Given the description of an element on the screen output the (x, y) to click on. 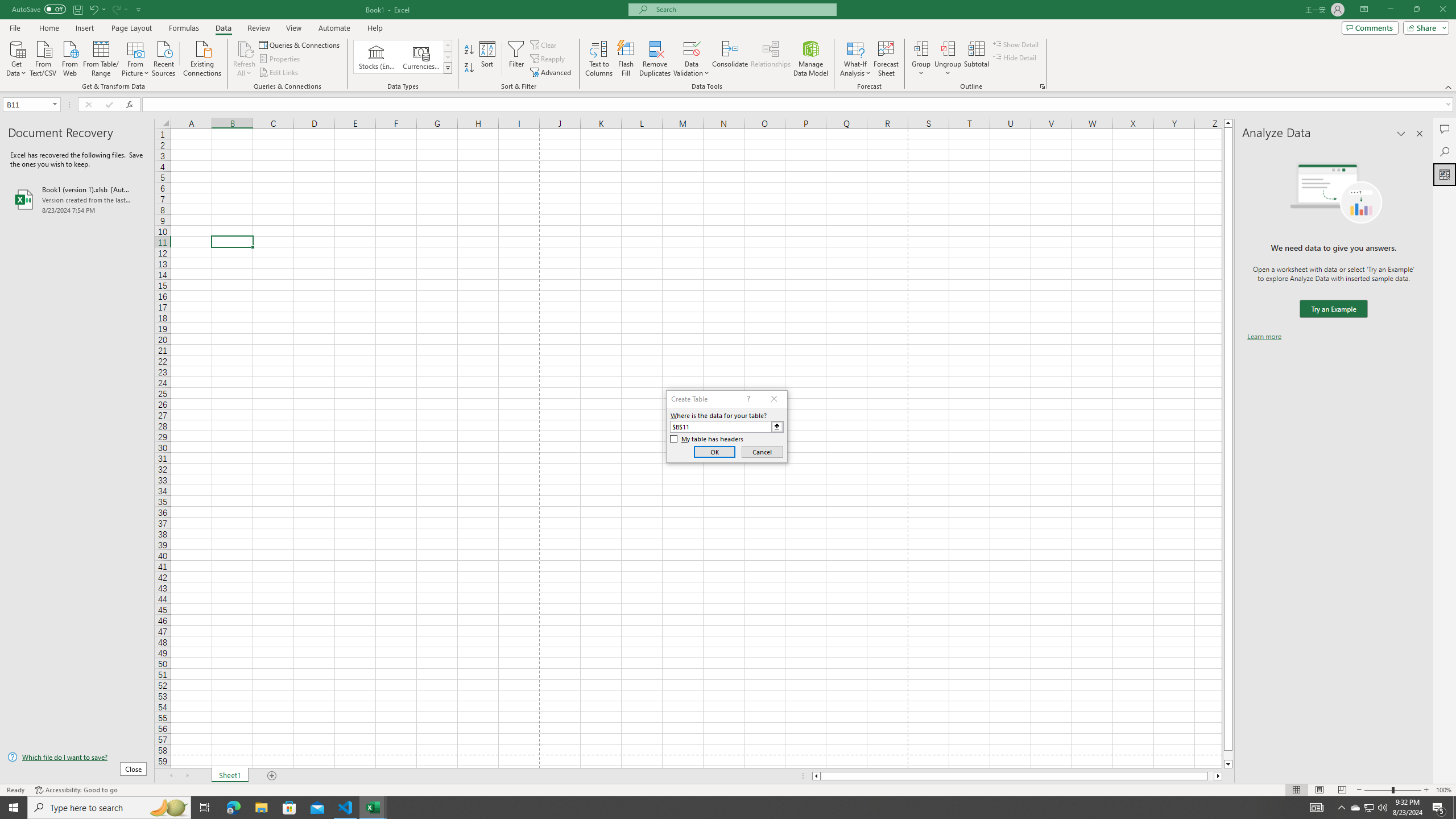
Restore Down (1416, 9)
